Given the description of an element on the screen output the (x, y) to click on. 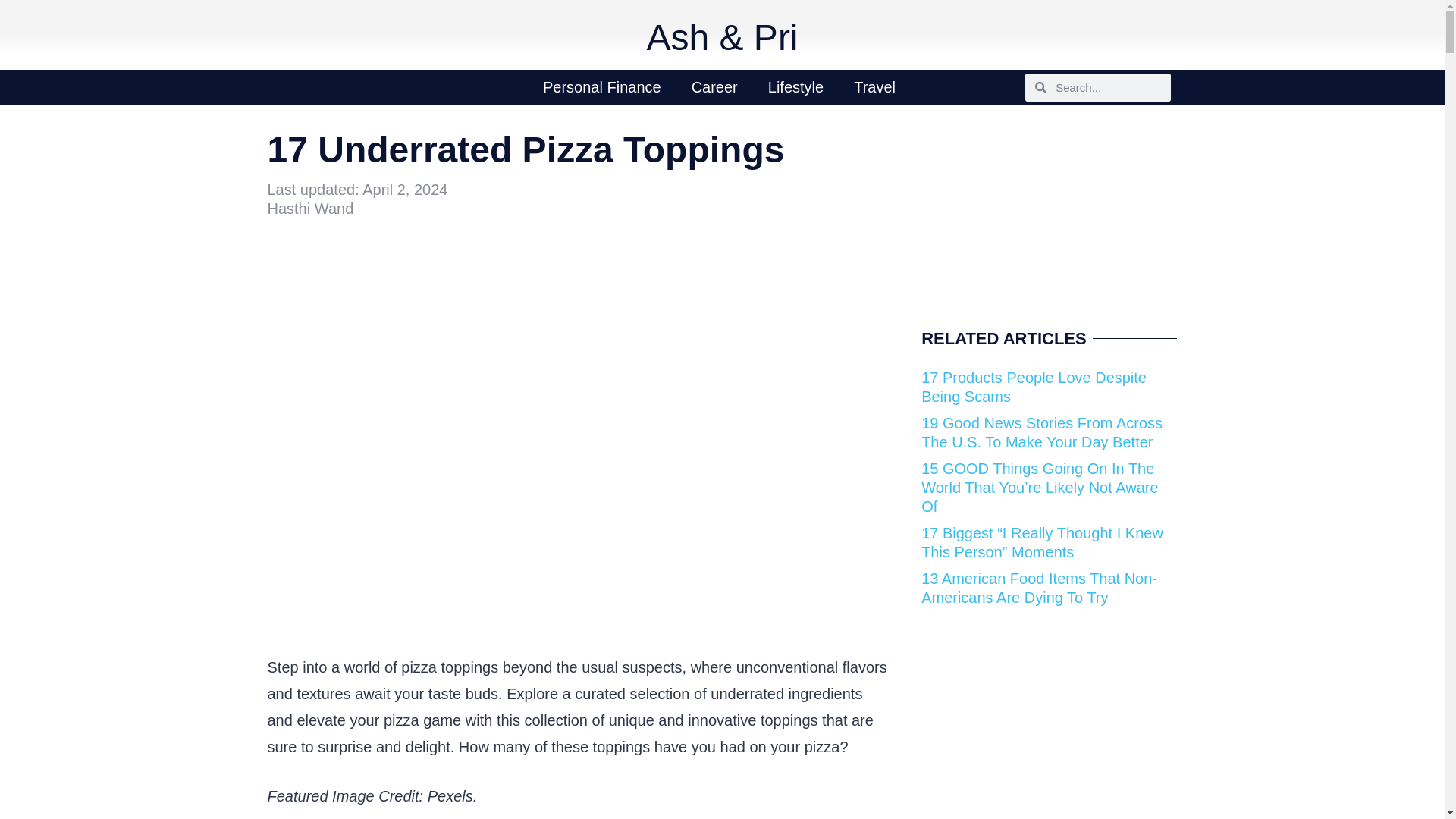
Lifestyle (795, 86)
Career (714, 86)
17 Products People Love Despite Being Scams (1034, 386)
Travel (874, 86)
Personal Finance (602, 86)
13 American Food Items That Non-Americans Are Dying To Try (1039, 588)
